Given the description of an element on the screen output the (x, y) to click on. 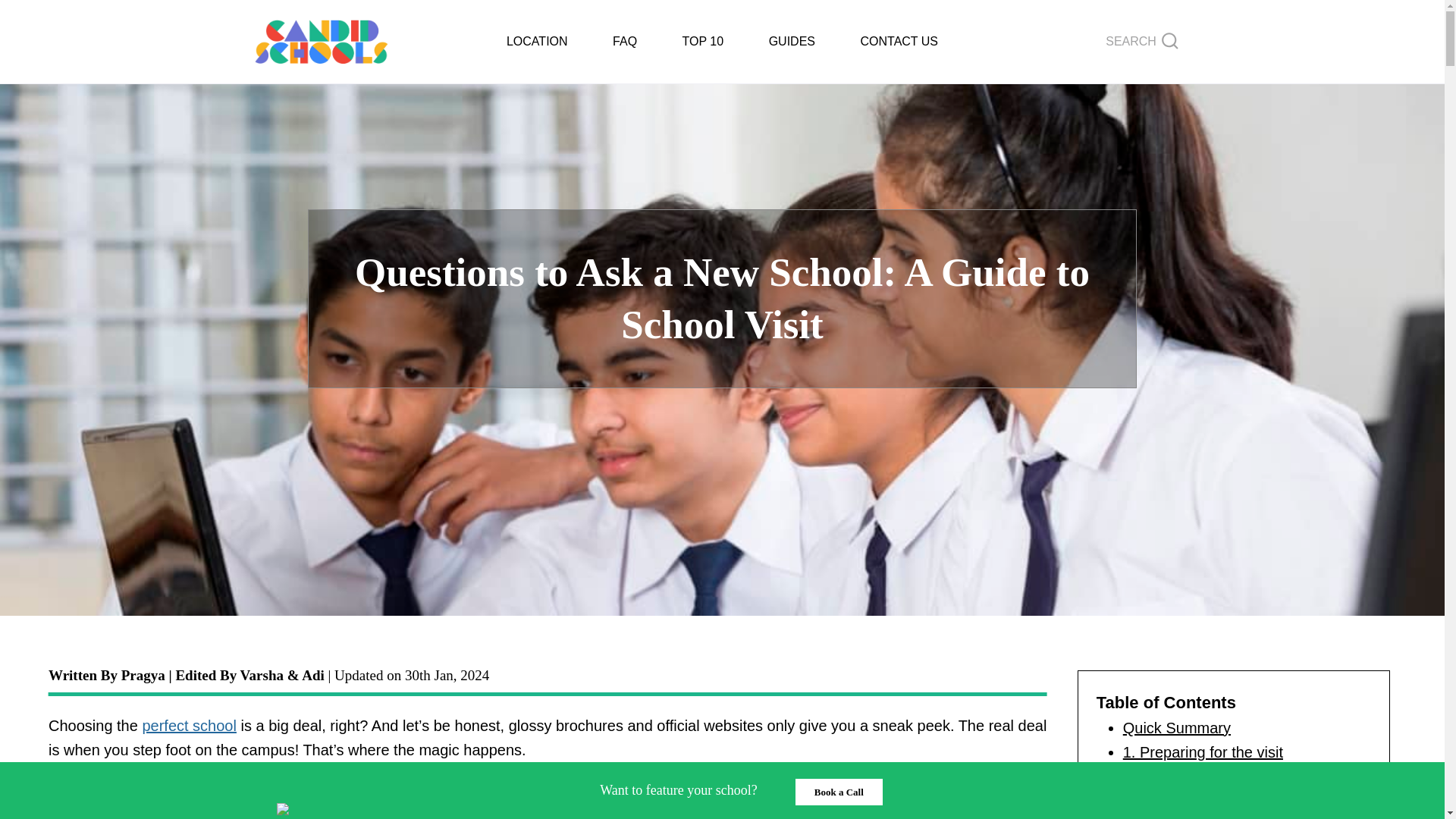
FAQ (624, 41)
LOCATION (536, 41)
4. Questions for Specific type of Schools  (1229, 817)
Quick Summary (1176, 727)
perfect school (188, 725)
GUIDES (791, 41)
TOP 10 (702, 41)
SEARCH (1142, 41)
CONTACT US (899, 41)
3. What to Look for? (1190, 800)
